Given the description of an element on the screen output the (x, y) to click on. 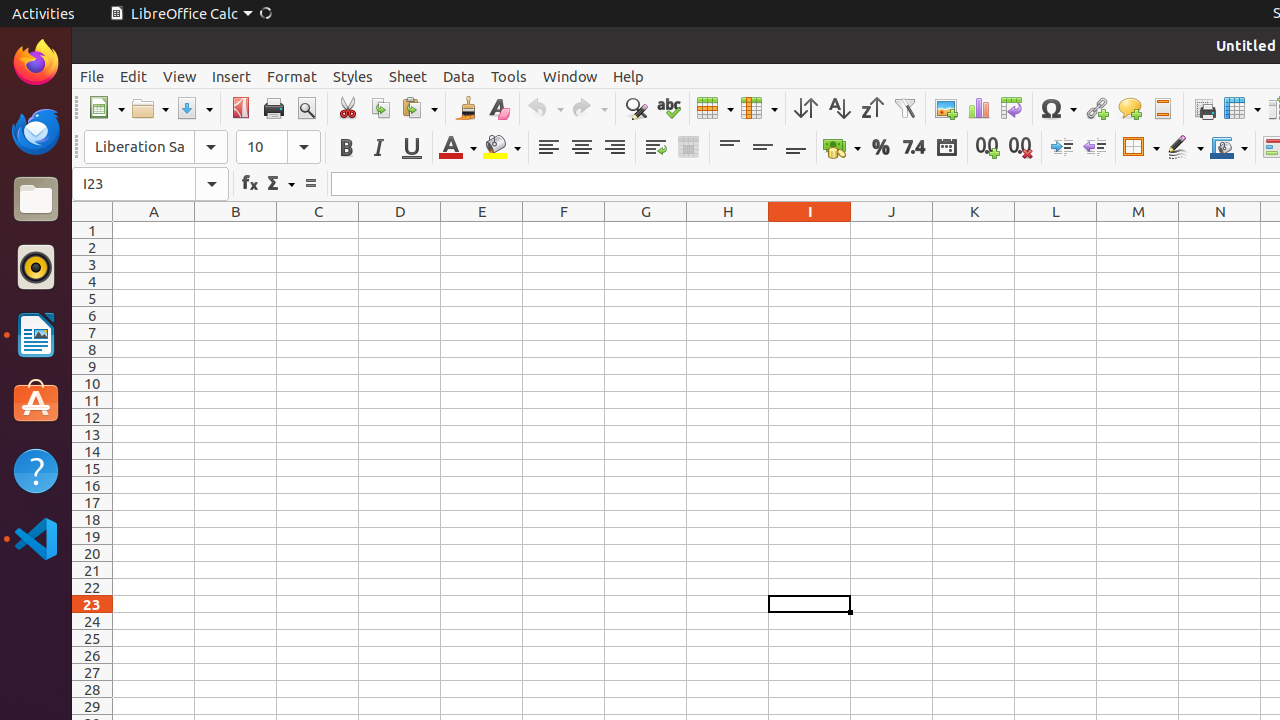
Sort Ascending Element type: push-button (838, 108)
Symbol Element type: push-button (1058, 108)
Image Element type: push-button (945, 108)
Sheet Element type: menu (408, 76)
Increase Element type: push-button (1061, 147)
